Given the description of an element on the screen output the (x, y) to click on. 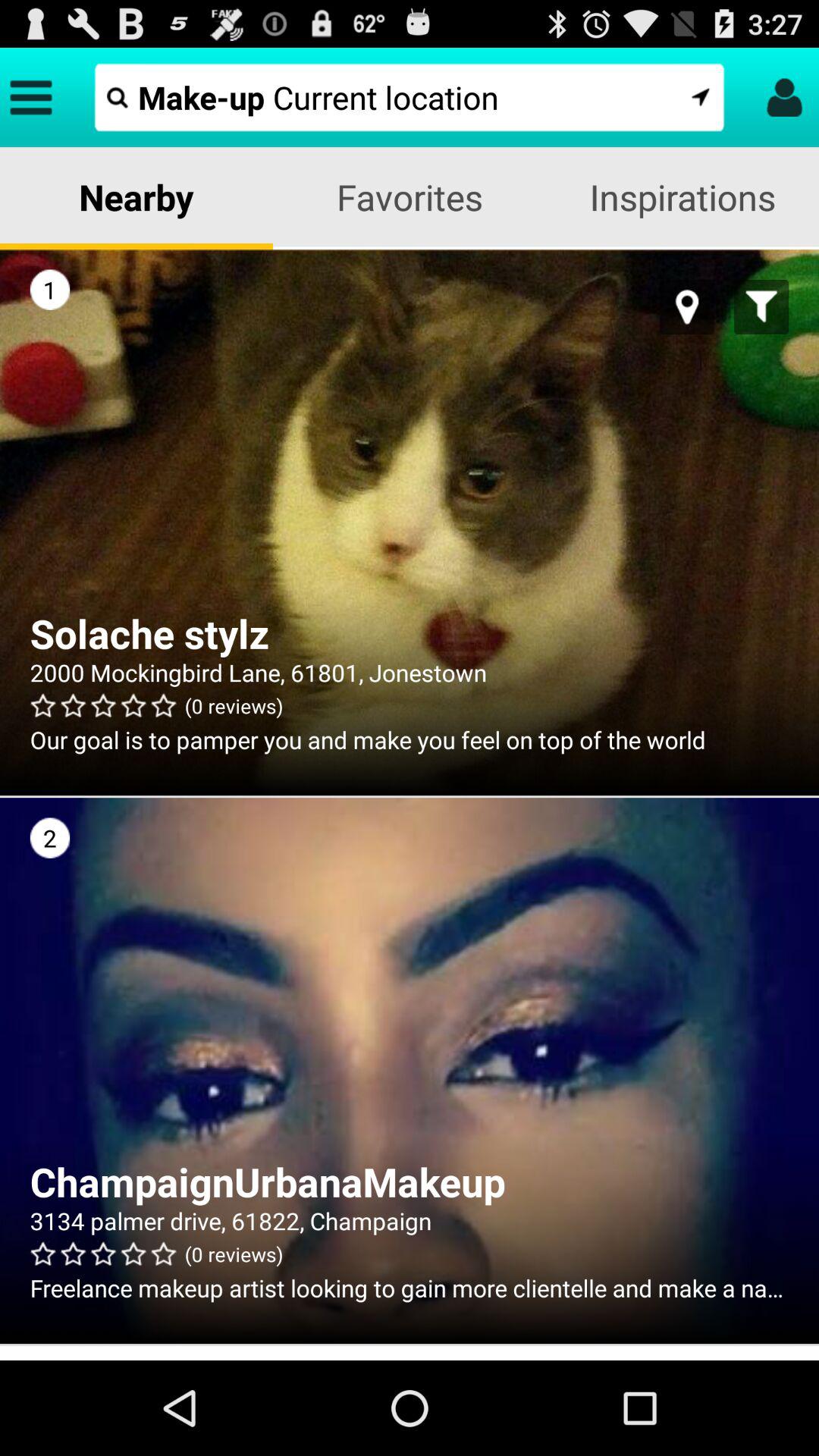
click the favorites item (409, 196)
